Given the description of an element on the screen output the (x, y) to click on. 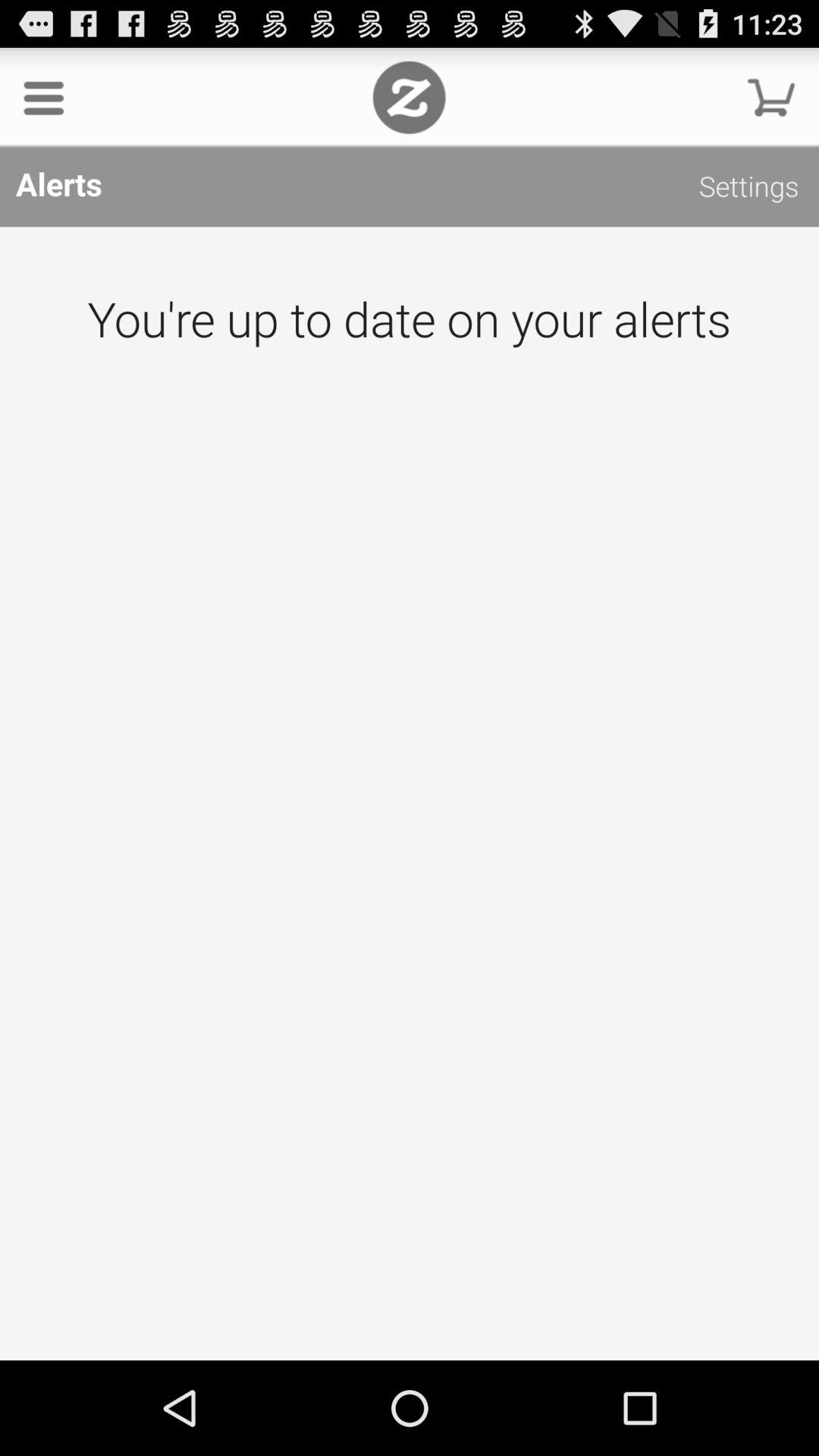
swipe to the settings item (749, 189)
